Given the description of an element on the screen output the (x, y) to click on. 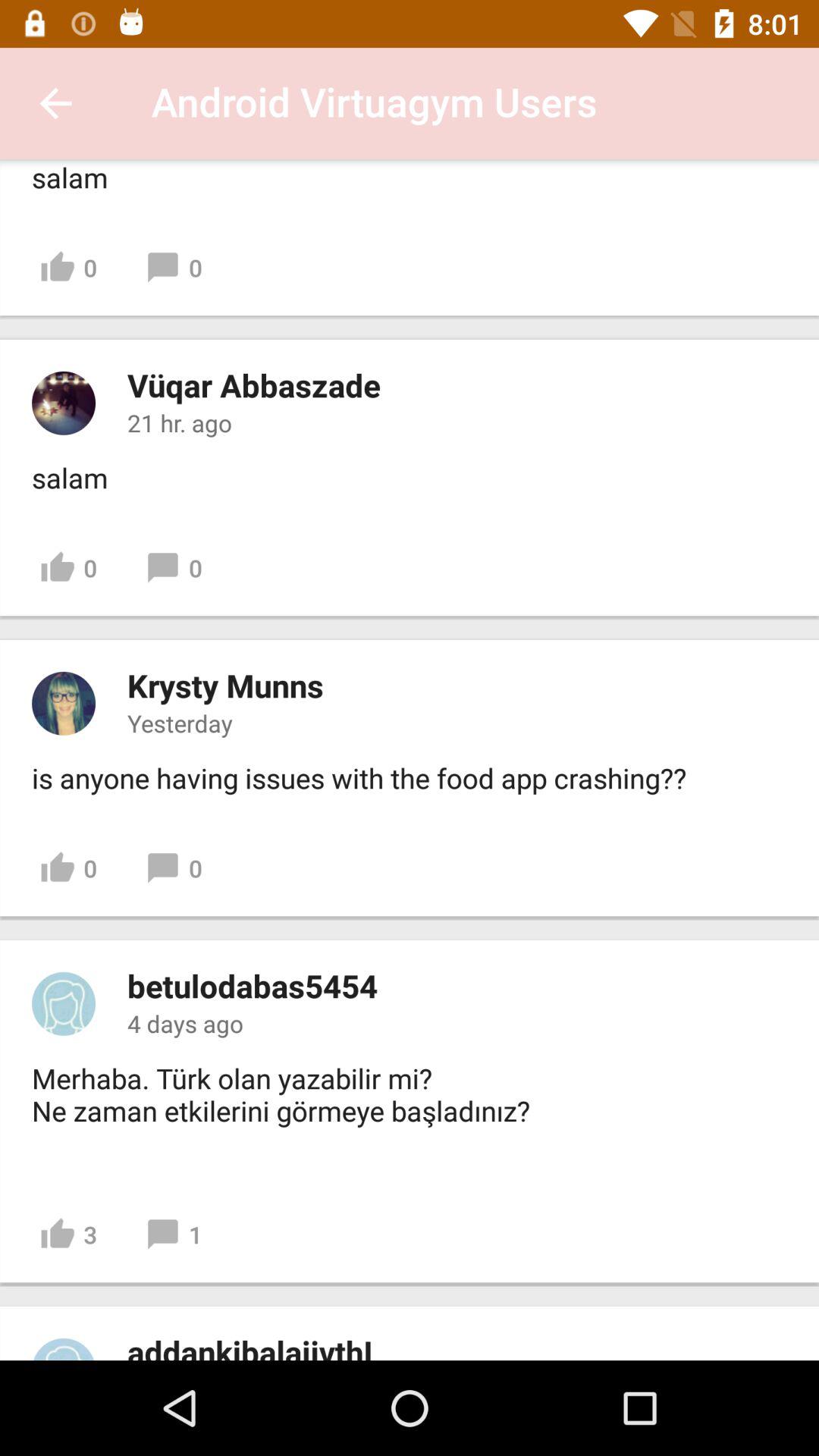
launch 3 item (68, 1234)
